Given the description of an element on the screen output the (x, y) to click on. 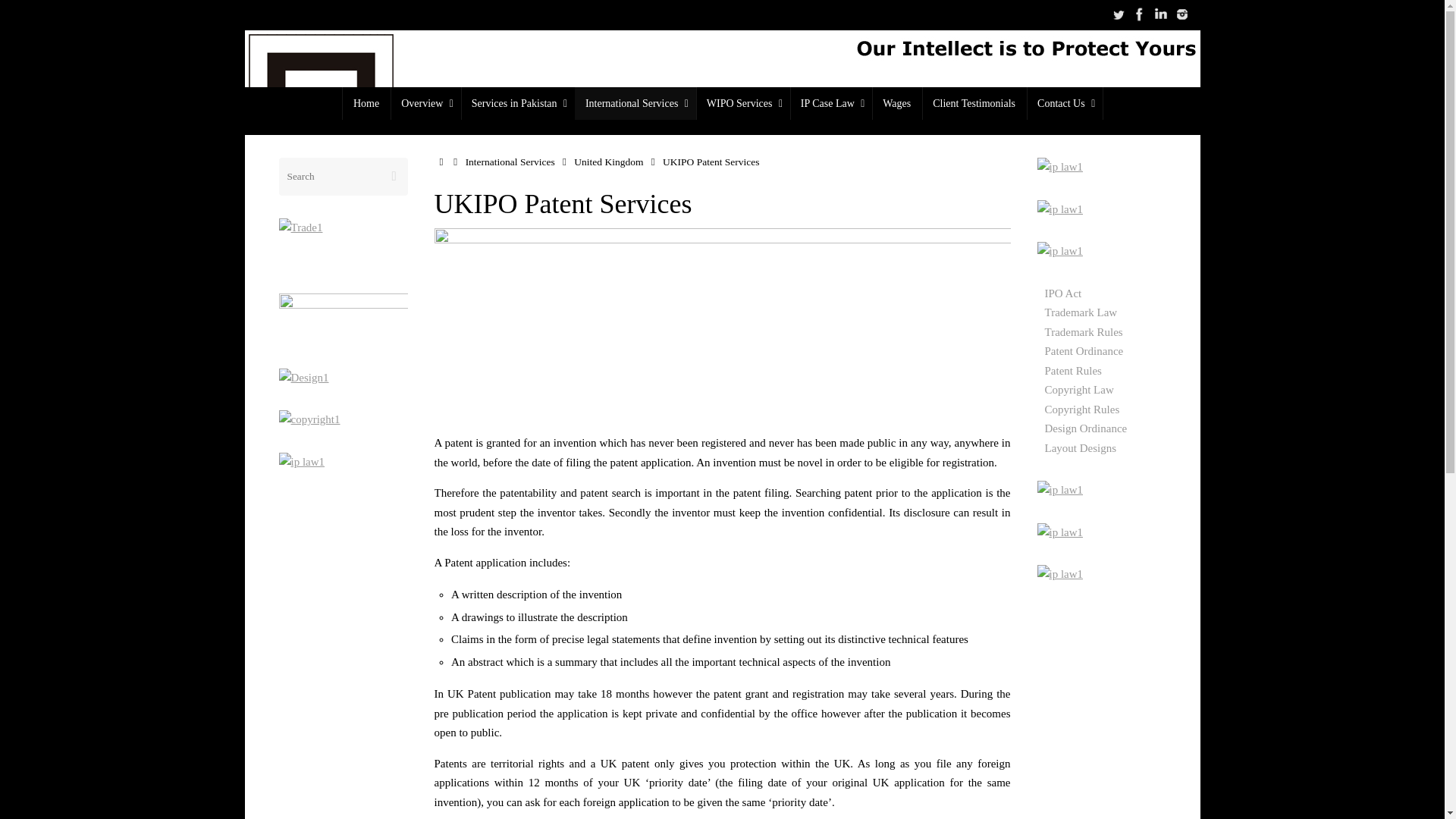
Intellectual Property Logium (1117, 14)
Home (366, 102)
Overview (425, 102)
Services in Pakistan (518, 102)
Mahmood Ur Rahman Chaudhry (1160, 14)
Intellectual Property Logium (1181, 14)
Intellectual Property Logium (1139, 14)
